Given the description of an element on the screen output the (x, y) to click on. 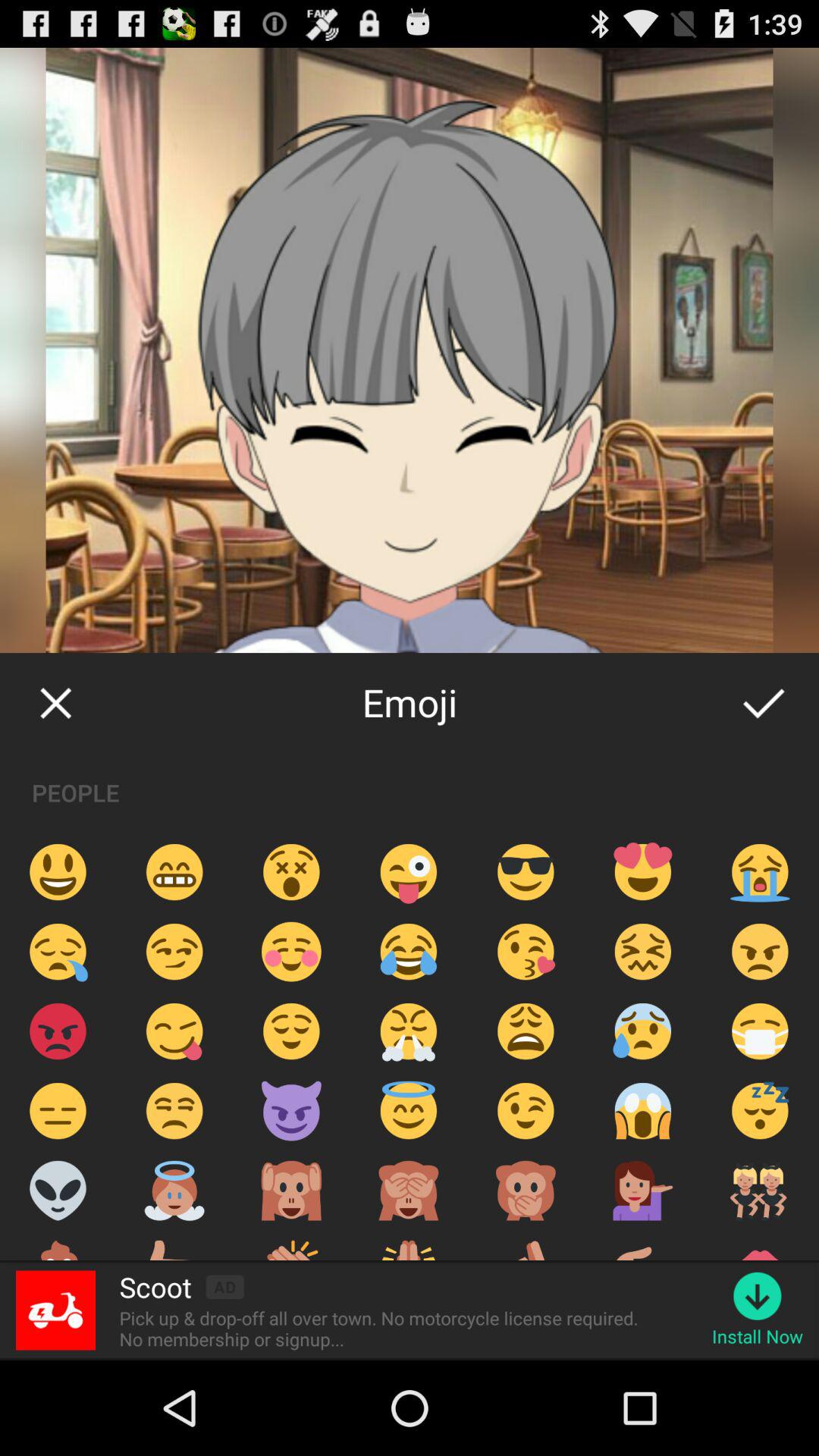
turn off item to the right of the scoot item (224, 1287)
